Given the description of an element on the screen output the (x, y) to click on. 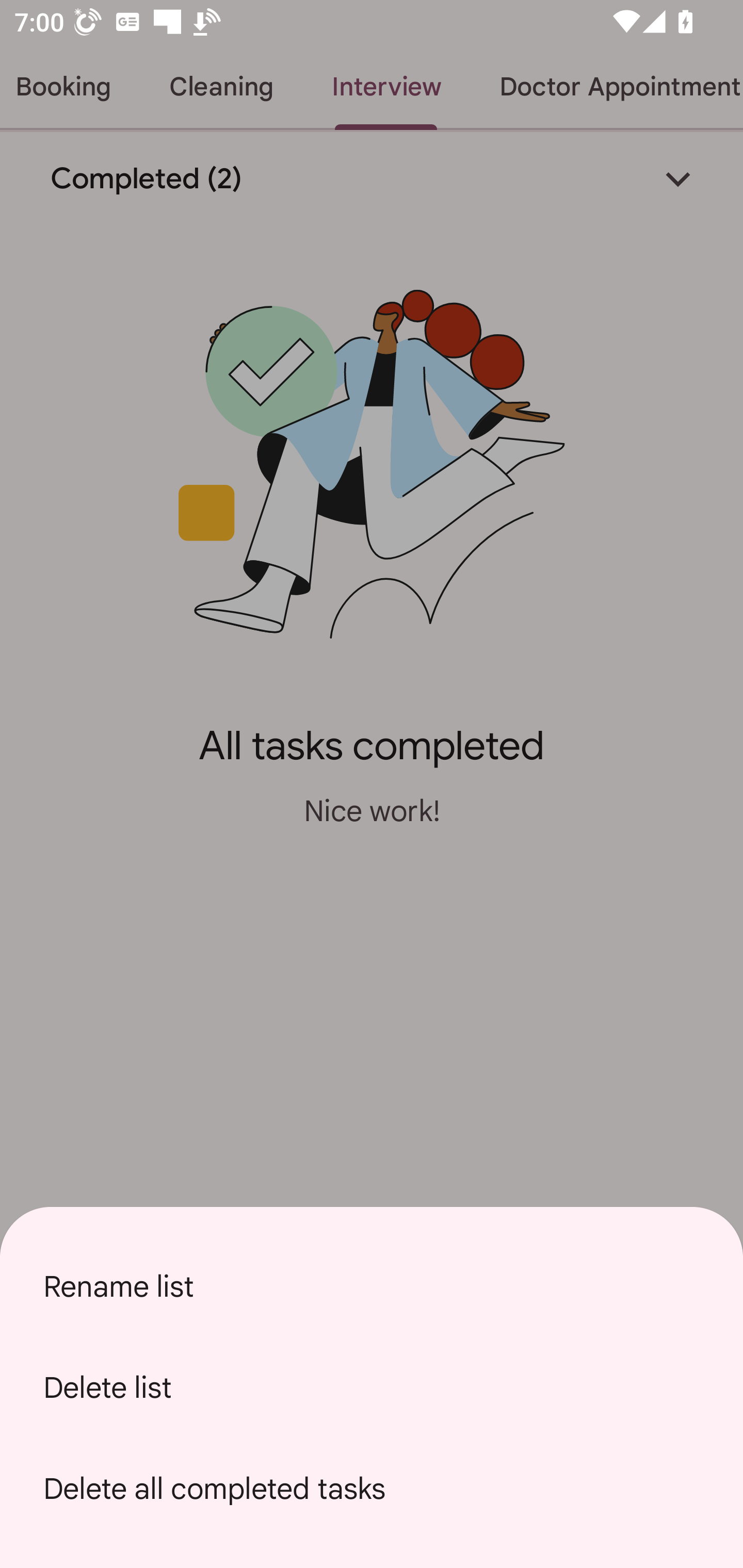
Rename list (371, 1286)
Delete list (371, 1387)
Delete all completed tasks (371, 1488)
